Given the description of an element on the screen output the (x, y) to click on. 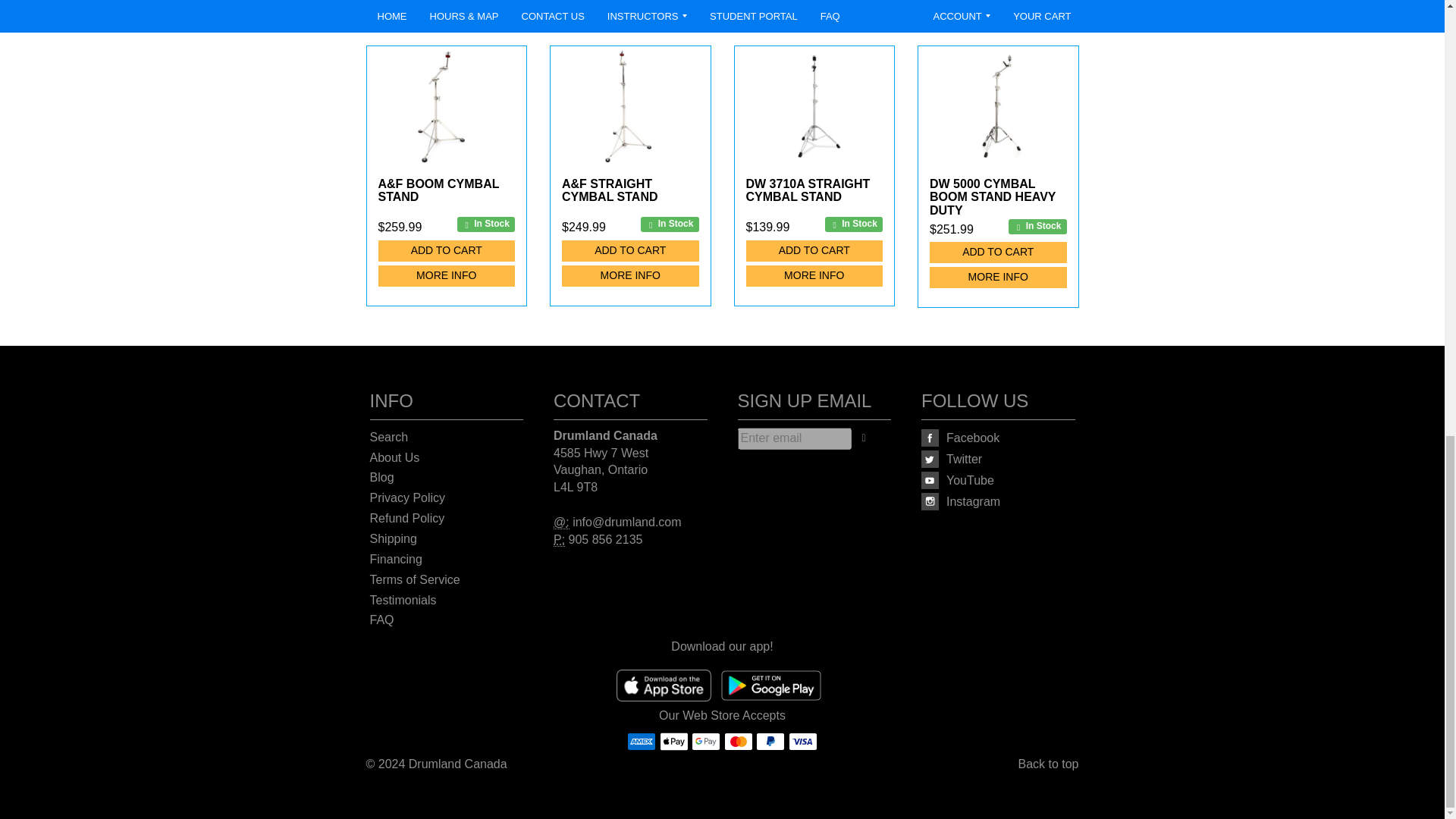
Visa (802, 741)
Email (561, 522)
Mastercard (737, 741)
Google Pay (705, 741)
American Express (641, 741)
Apple Pay (673, 741)
PayPal (769, 741)
